Given the description of an element on the screen output the (x, y) to click on. 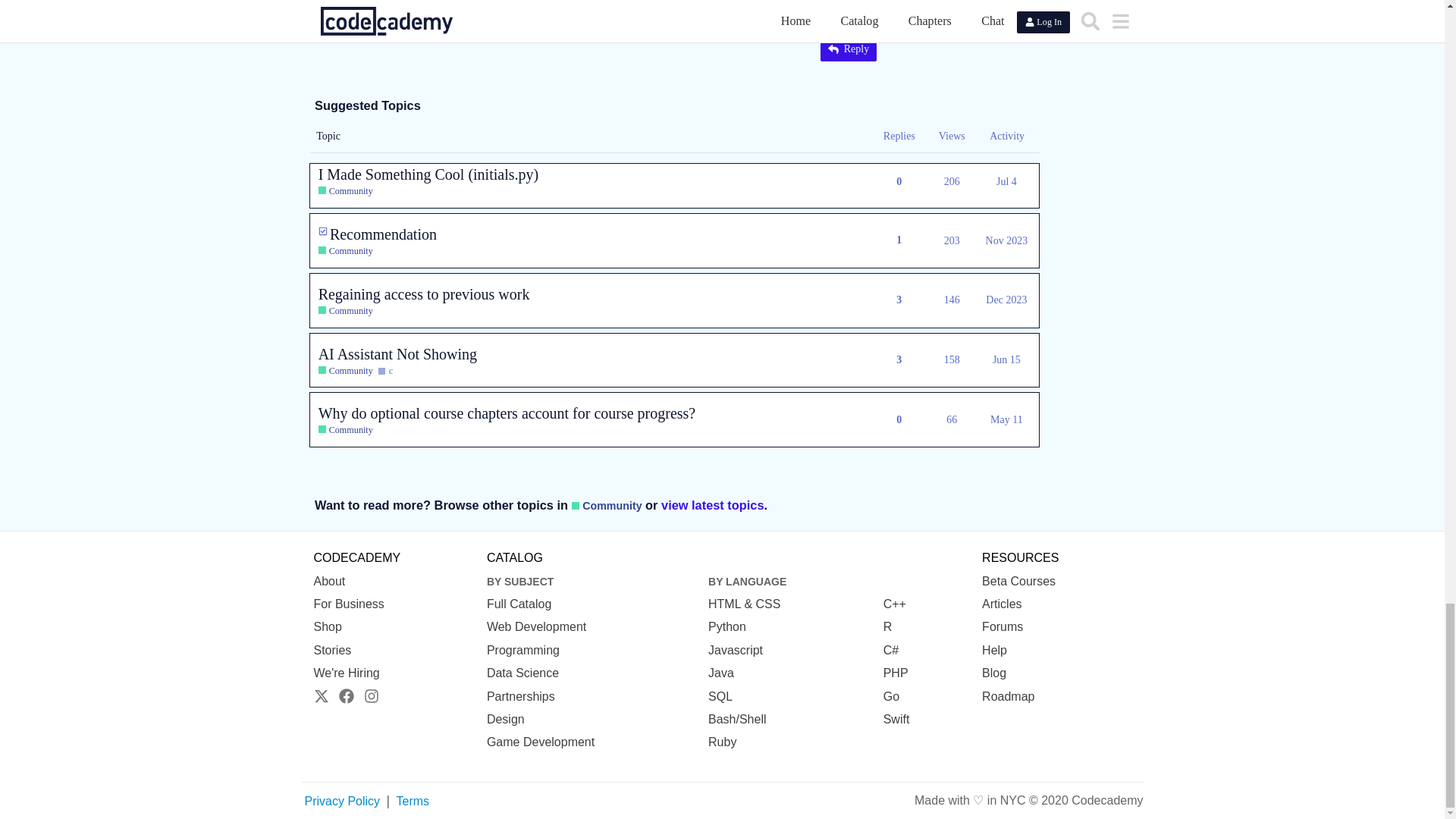
turtwigpo (518, 2)
chiprunner97936 (494, 6)
mtf (470, 6)
alexc (446, 6)
alexc (362, 7)
mtf (418, 7)
chiprunner97936 (446, 2)
